Given the description of an element on the screen output the (x, y) to click on. 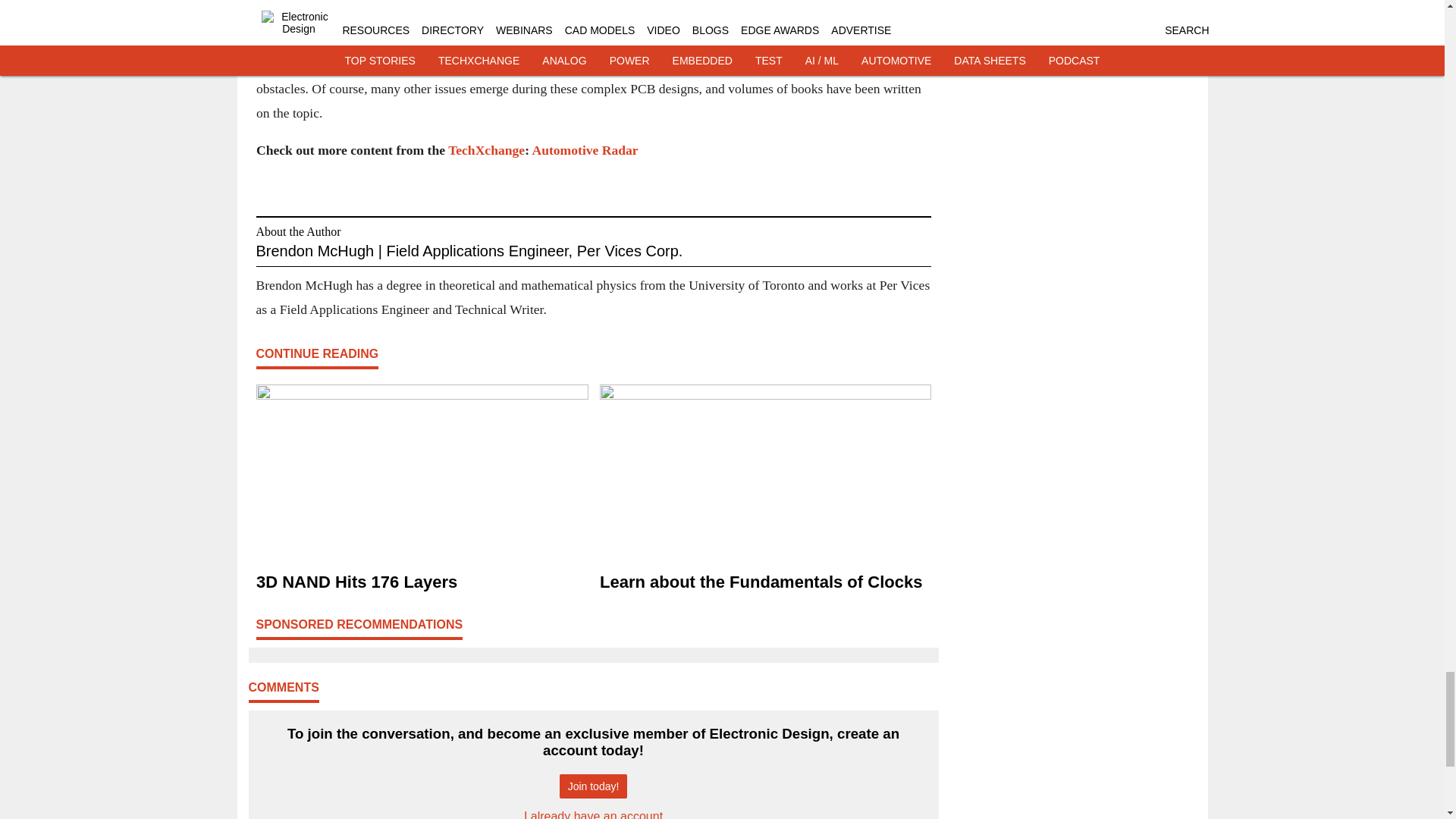
TechXchange (486, 150)
3D NAND Hits 176 Layers (422, 582)
Automotive Radar (584, 150)
